Given the description of an element on the screen output the (x, y) to click on. 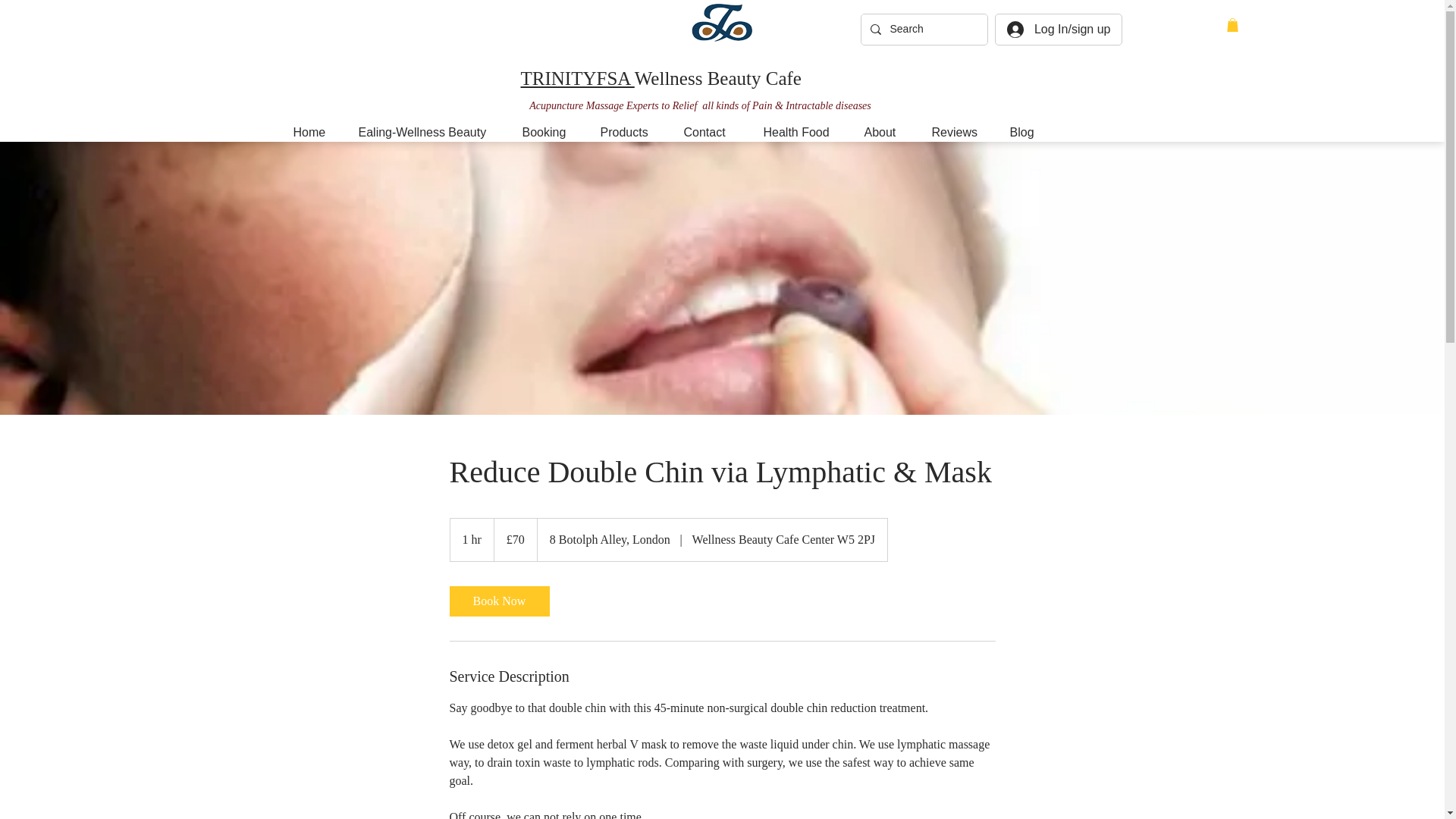
Home (314, 132)
Booking (550, 132)
Contact (711, 132)
Reviews (959, 132)
About (885, 132)
Ealing-Wellness Beauty (429, 132)
TRINITYFSA Wellness Beauty Cafe (659, 78)
Book Now (498, 601)
Products (629, 132)
Health Food (802, 132)
